Given the description of an element on the screen output the (x, y) to click on. 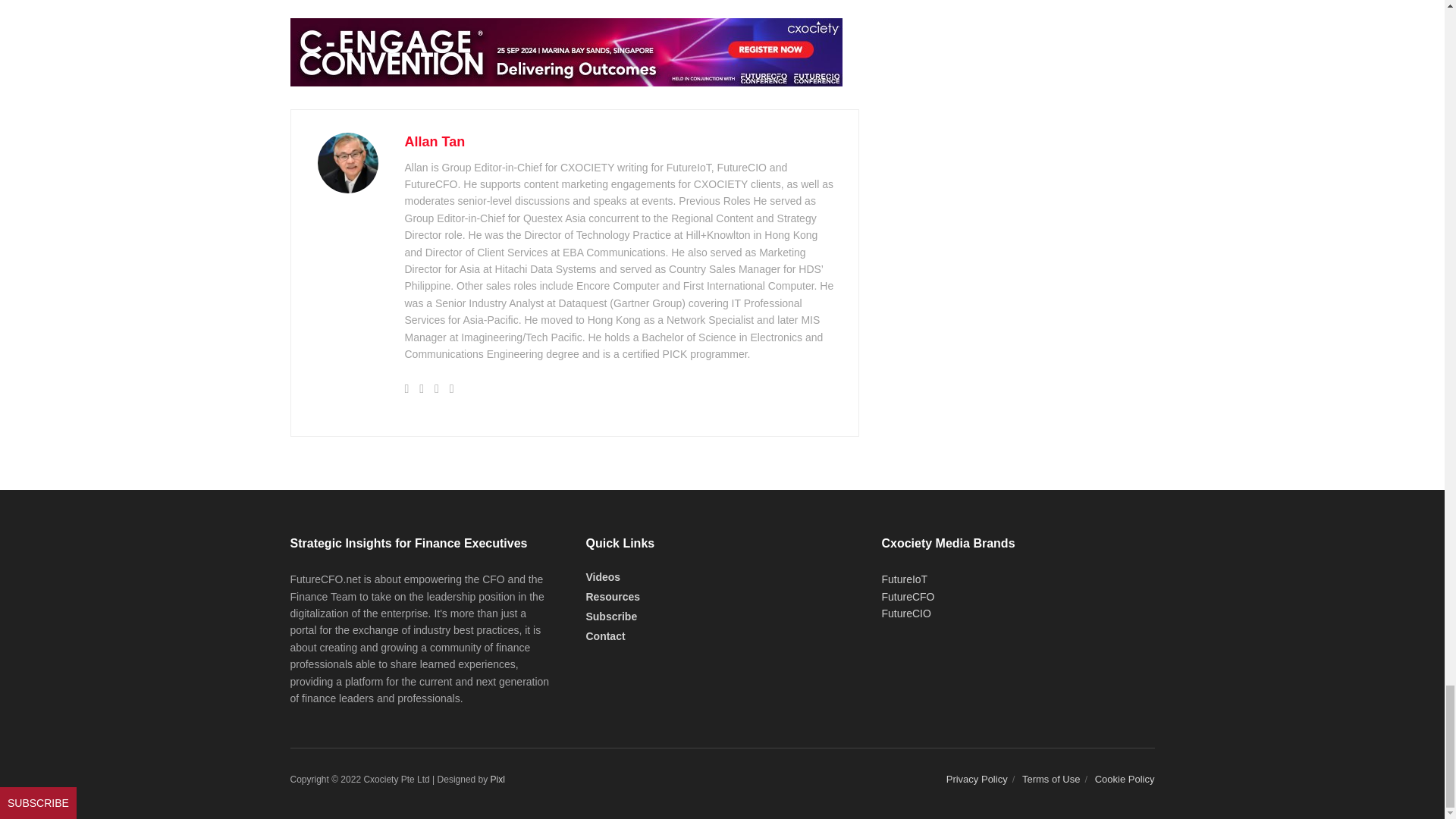
Pixl (497, 778)
